Given the description of an element on the screen output the (x, y) to click on. 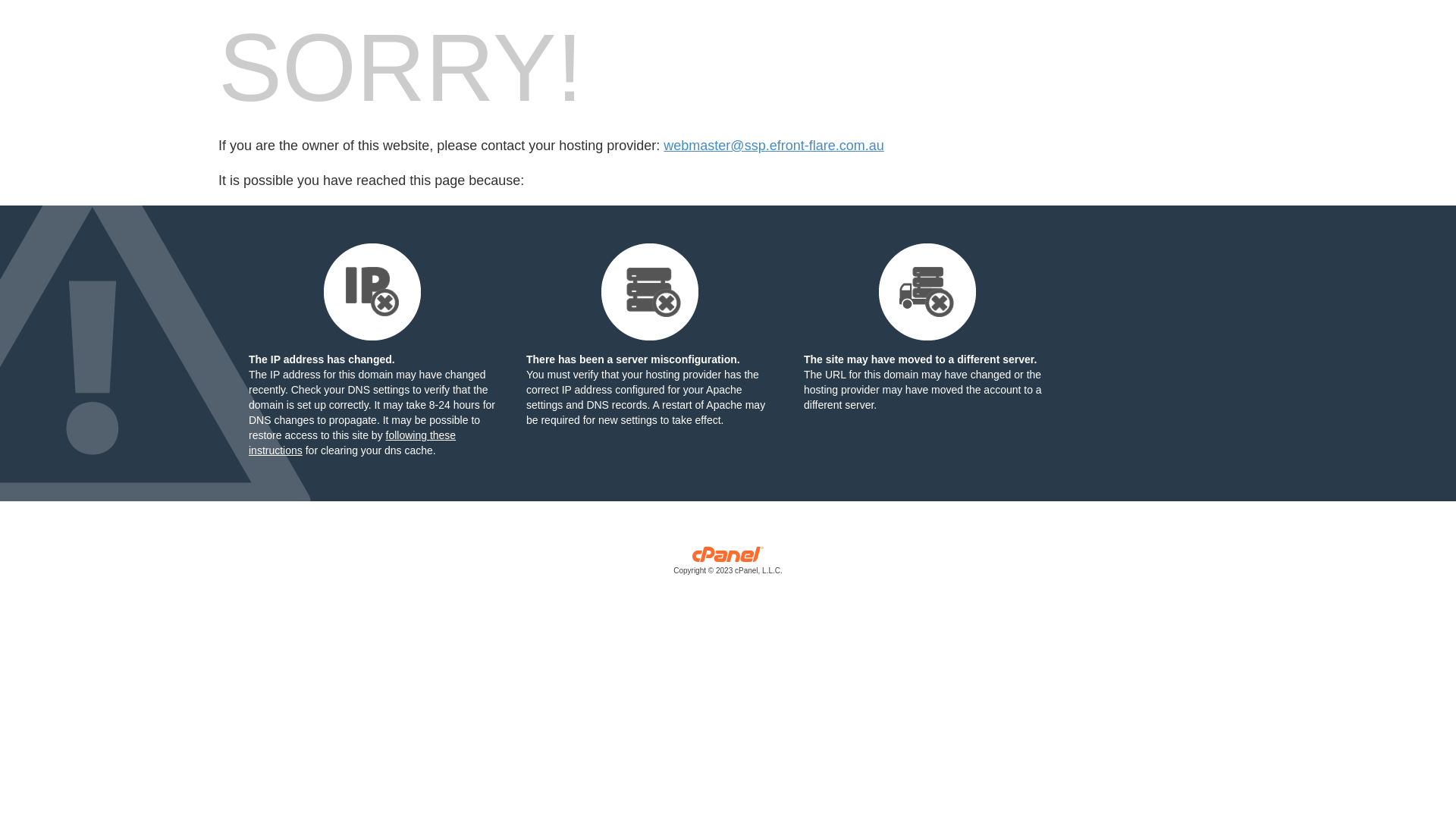
following these instructions Element type: text (351, 442)
webmaster@ssp.efront-flare.com.au Element type: text (773, 145)
